Given the description of an element on the screen output the (x, y) to click on. 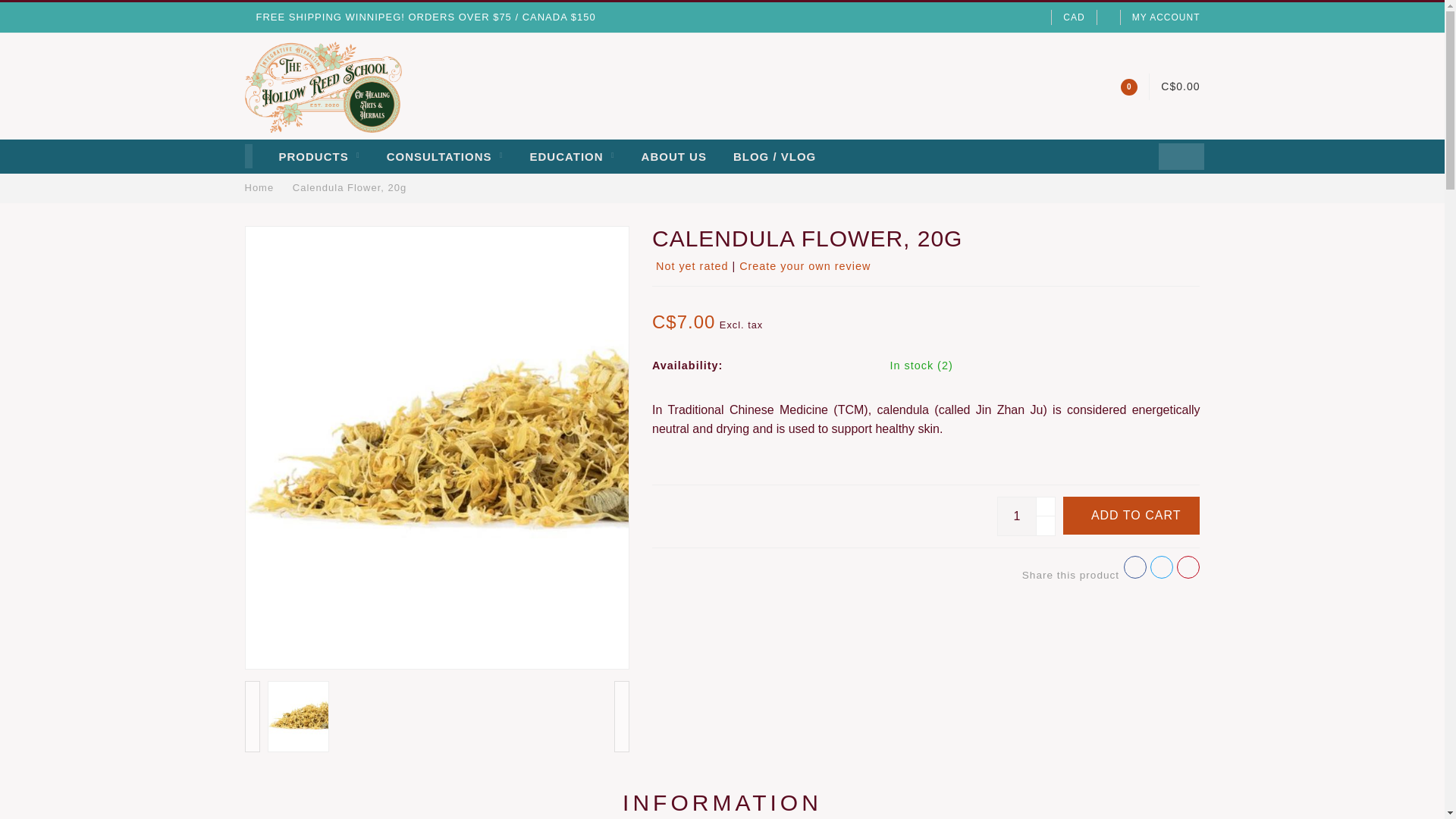
1 (1025, 516)
Home (258, 187)
MY ACCOUNT (1165, 17)
PRODUCTS (319, 156)
CAD (1073, 17)
